Given the description of an element on the screen output the (x, y) to click on. 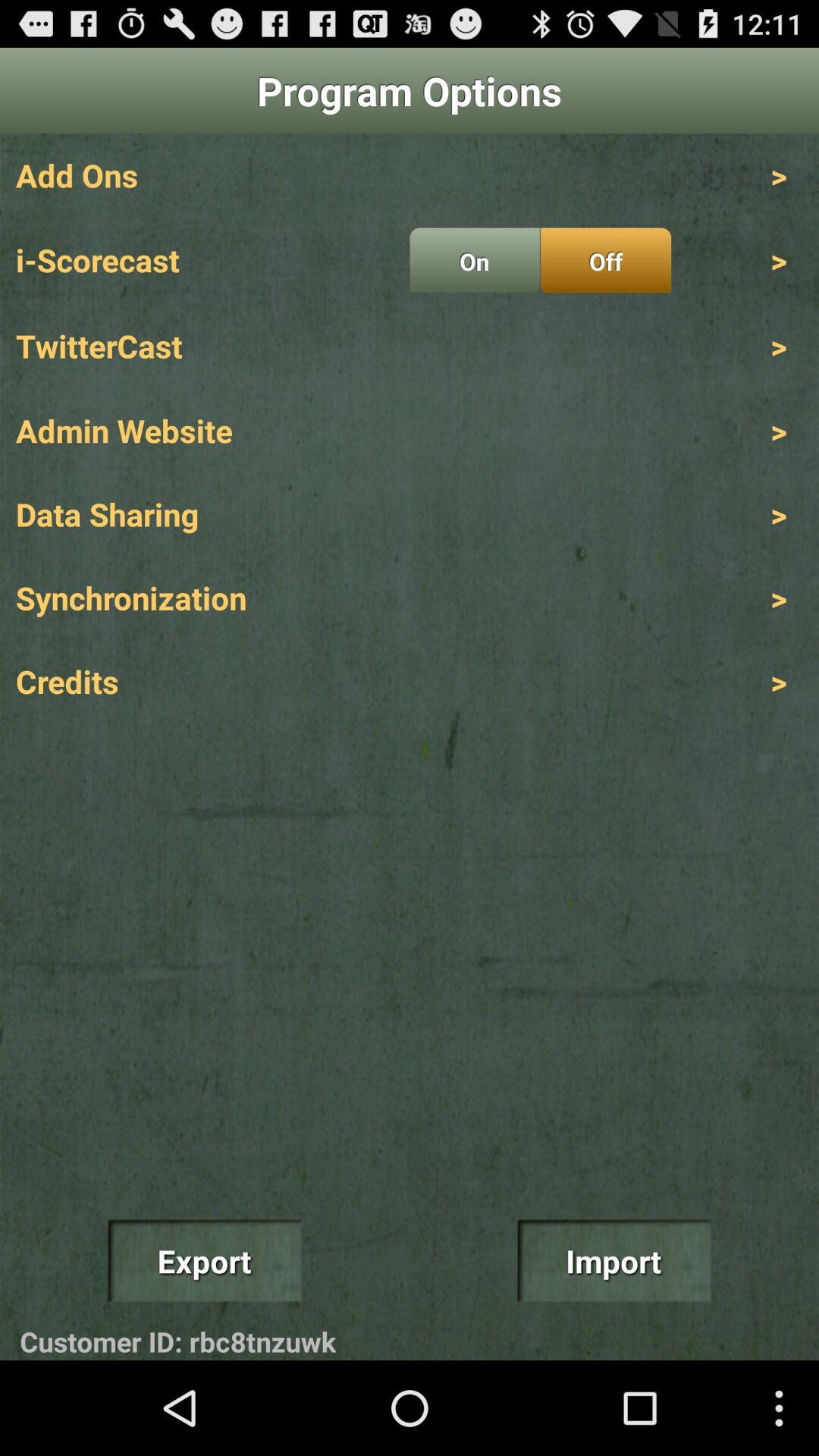
launch the item next to on (605, 259)
